Given the description of an element on the screen output the (x, y) to click on. 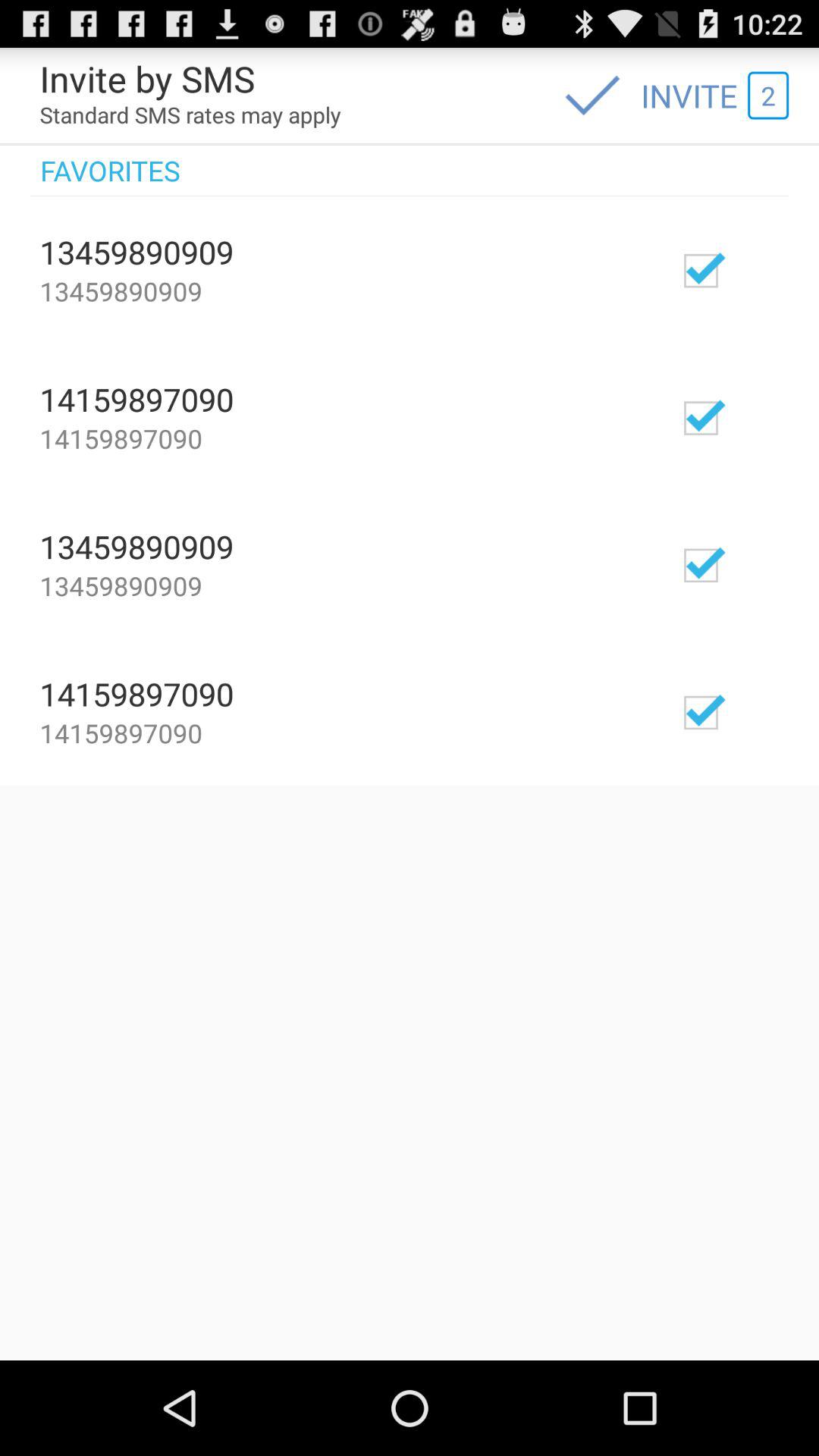
selector (745, 416)
